Given the description of an element on the screen output the (x, y) to click on. 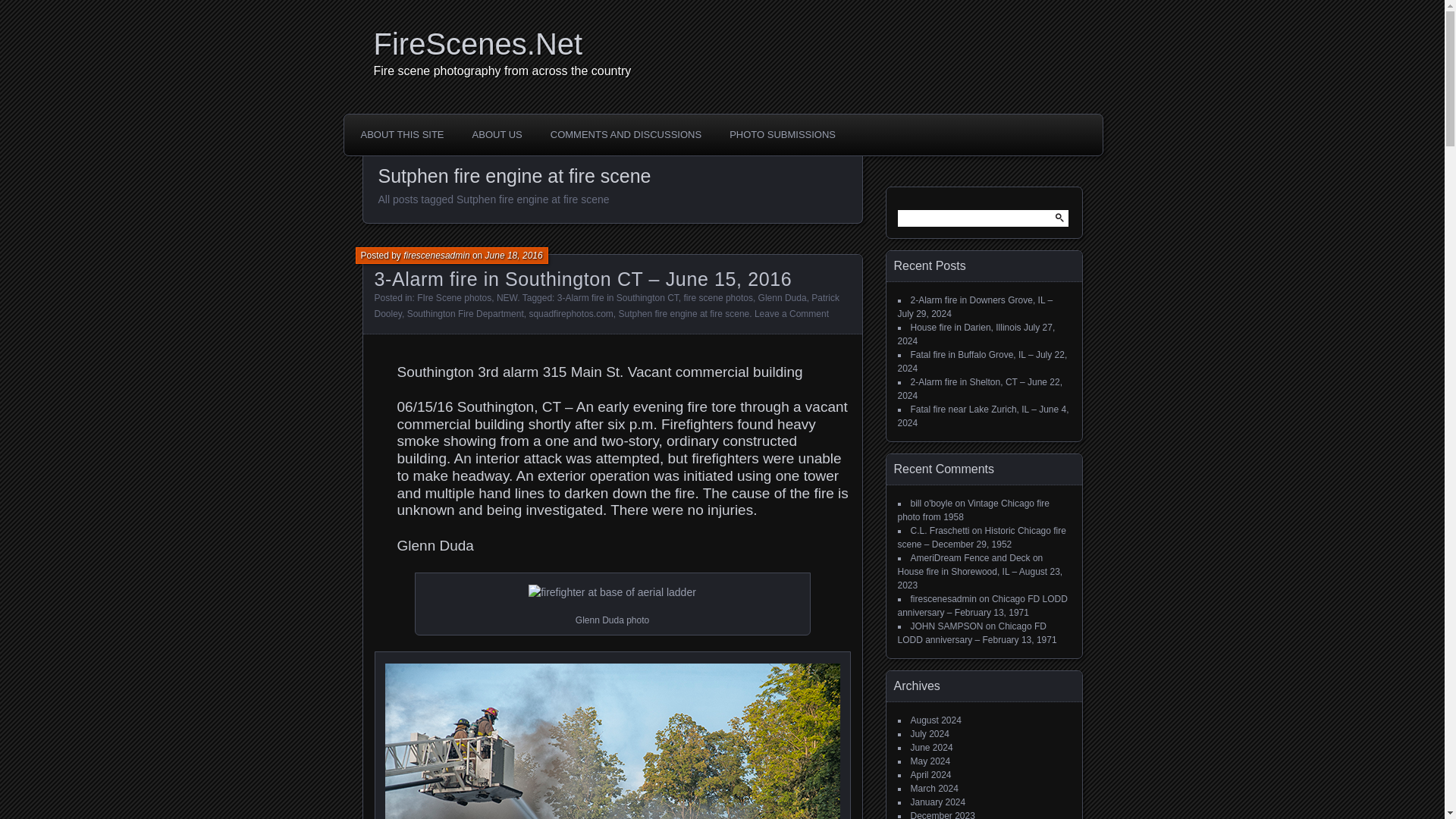
fire scene photos (718, 297)
NEW (506, 297)
June 18, 2016 (513, 255)
ABOUT US (497, 134)
Leave a Comment (791, 313)
FireScenes.Net (726, 44)
FIre Scene photos (454, 297)
Glenn Duda (782, 297)
3-Alarm fire in Southington CT (617, 297)
View all posts by firescenesadmin (435, 255)
